Given the description of an element on the screen output the (x, y) to click on. 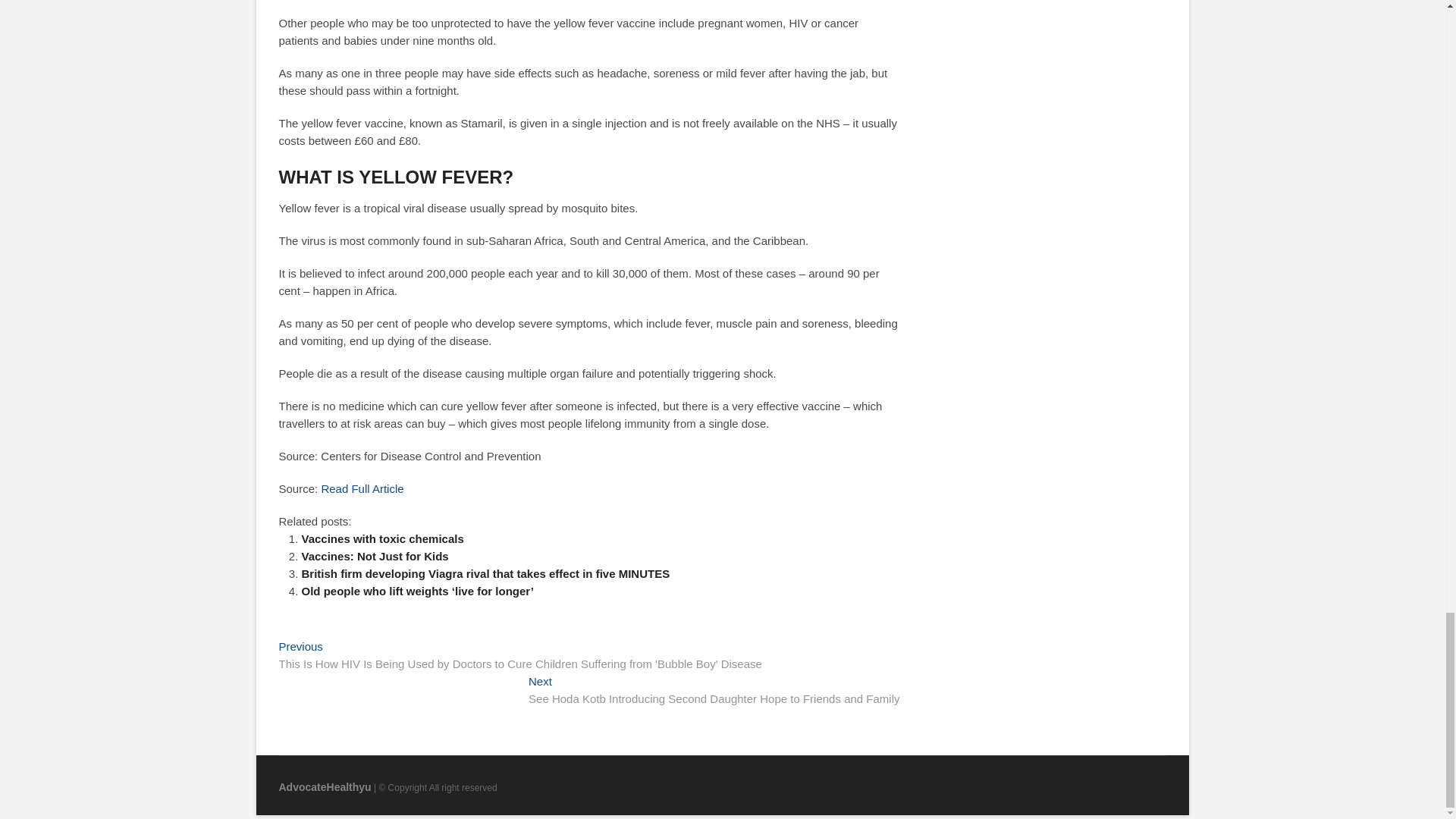
Vaccines: Not Just for Kids (374, 555)
Vaccines: Not Just for Kids (374, 555)
Read Full Article (361, 488)
Vaccines with toxic chemicals (382, 538)
Vaccines with toxic chemicals (382, 538)
